Given the description of an element on the screen output the (x, y) to click on. 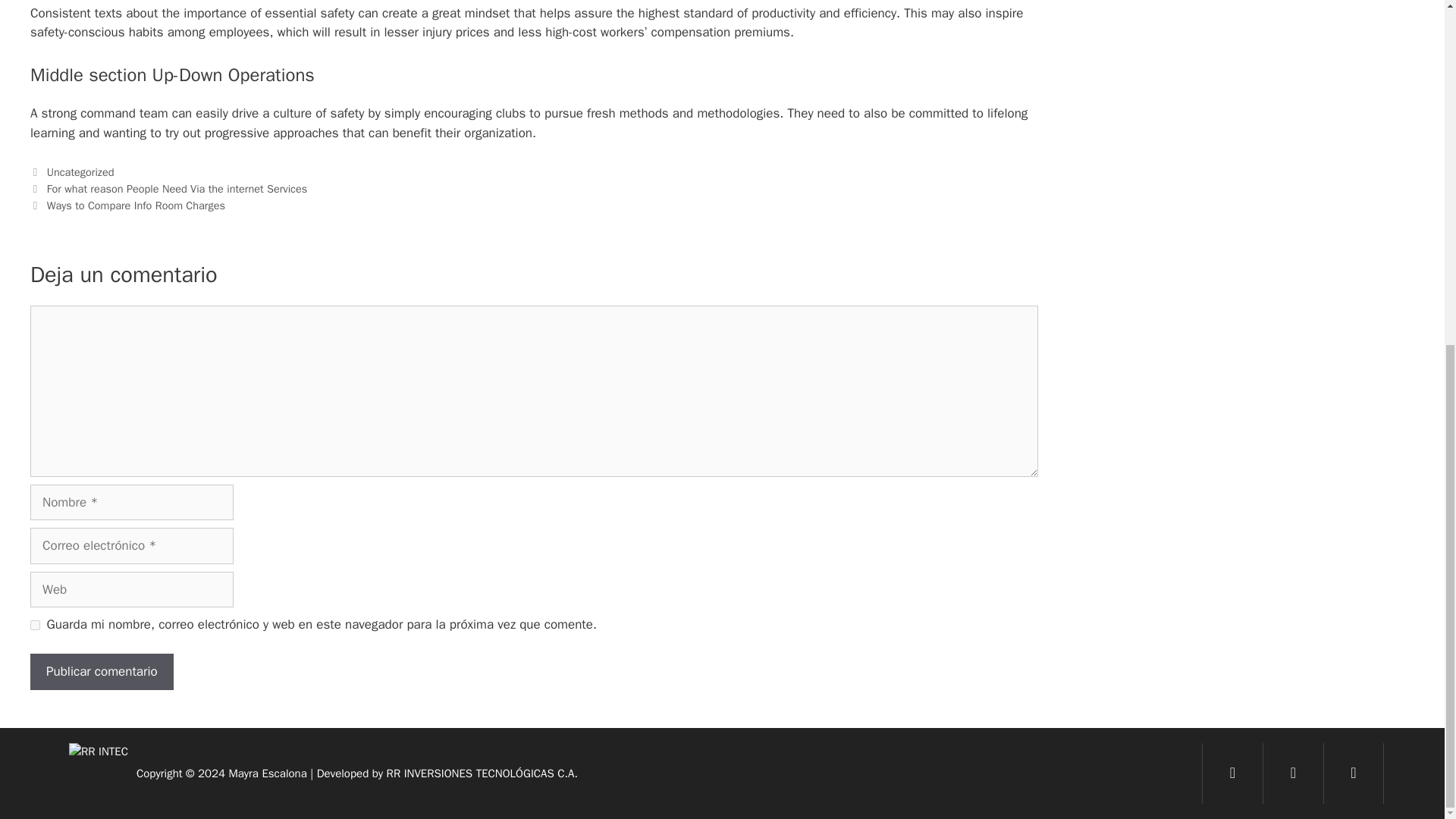
yes (35, 624)
Siguiente (127, 205)
Publicar comentario (101, 671)
Publicar comentario (101, 671)
Ways to Compare Info Room Charges (135, 205)
Anterior (168, 188)
Uncategorized (80, 172)
For what reason People Need Via the internet Services (176, 188)
